Given the description of an element on the screen output the (x, y) to click on. 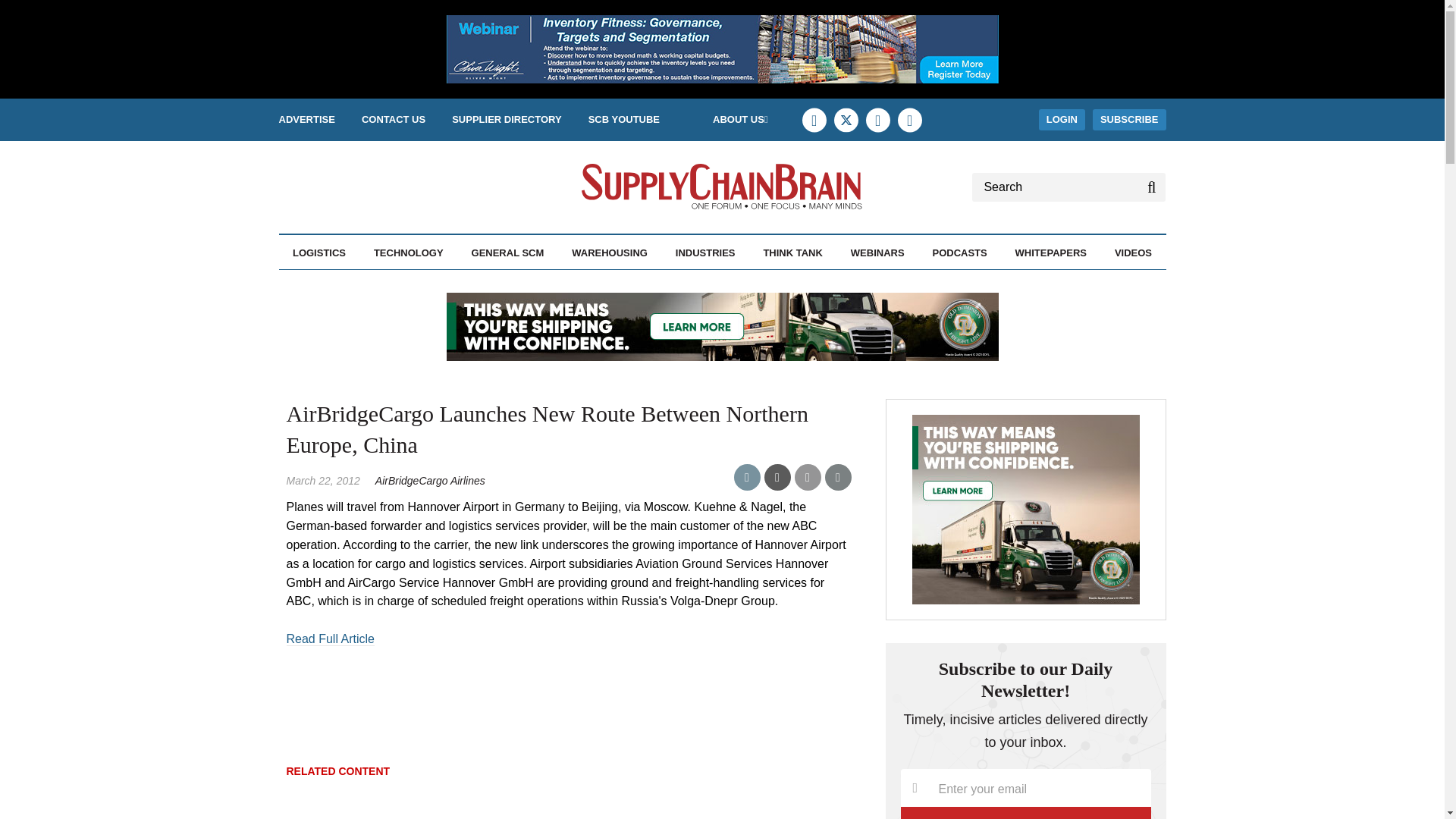
Old Dominion (1024, 509)
Old Dominion (721, 326)
Oliver Wight  - WEBINAR (721, 49)
Subscribe (1026, 812)
